Given the description of an element on the screen output the (x, y) to click on. 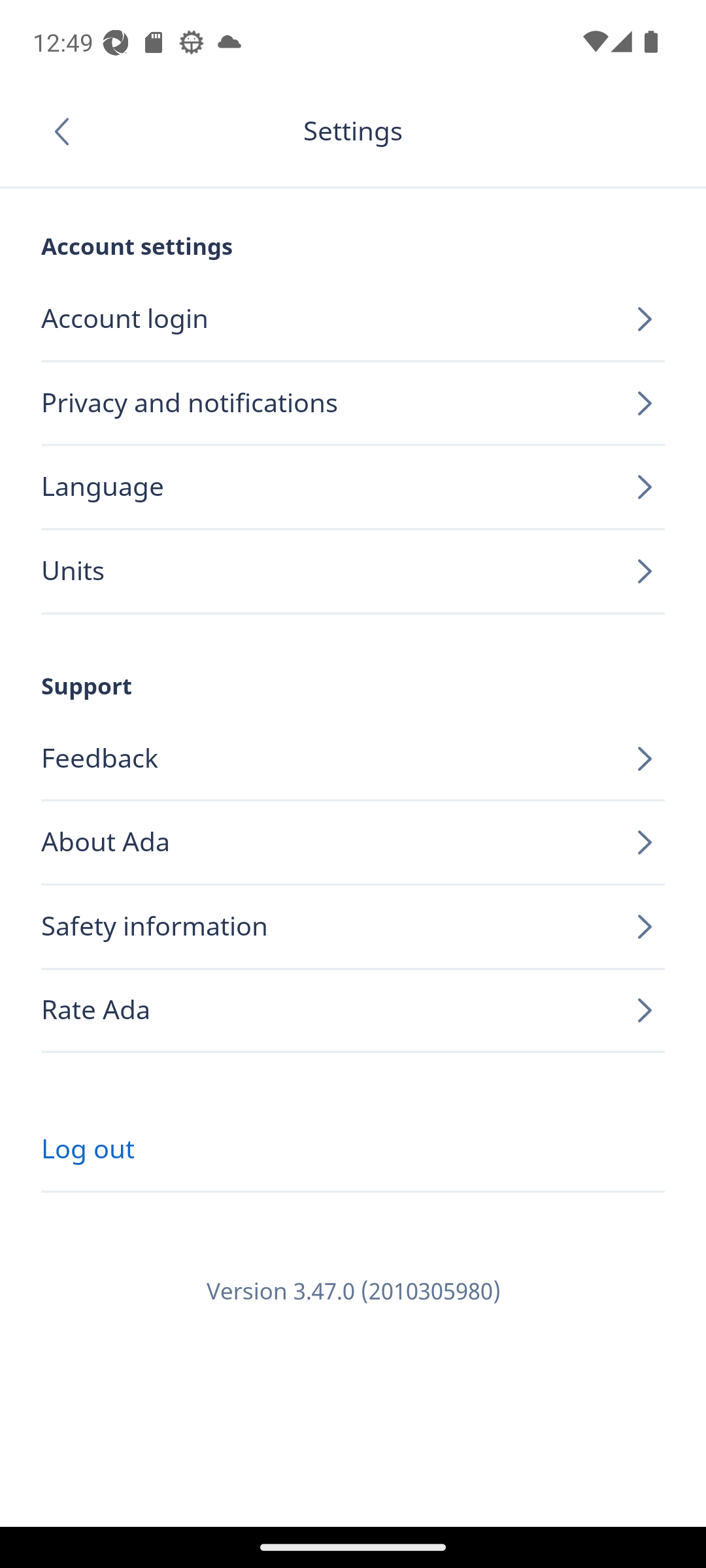
Go back, Navigates to the previous screen (68, 131)
Account login (352, 319)
Privacy and notifications (352, 403)
Language (352, 487)
Units (352, 571)
Feedback (352, 759)
About Ada (352, 843)
Safety information (352, 927)
Rate Ada (352, 1010)
Log out (352, 1149)
